Given the description of an element on the screen output the (x, y) to click on. 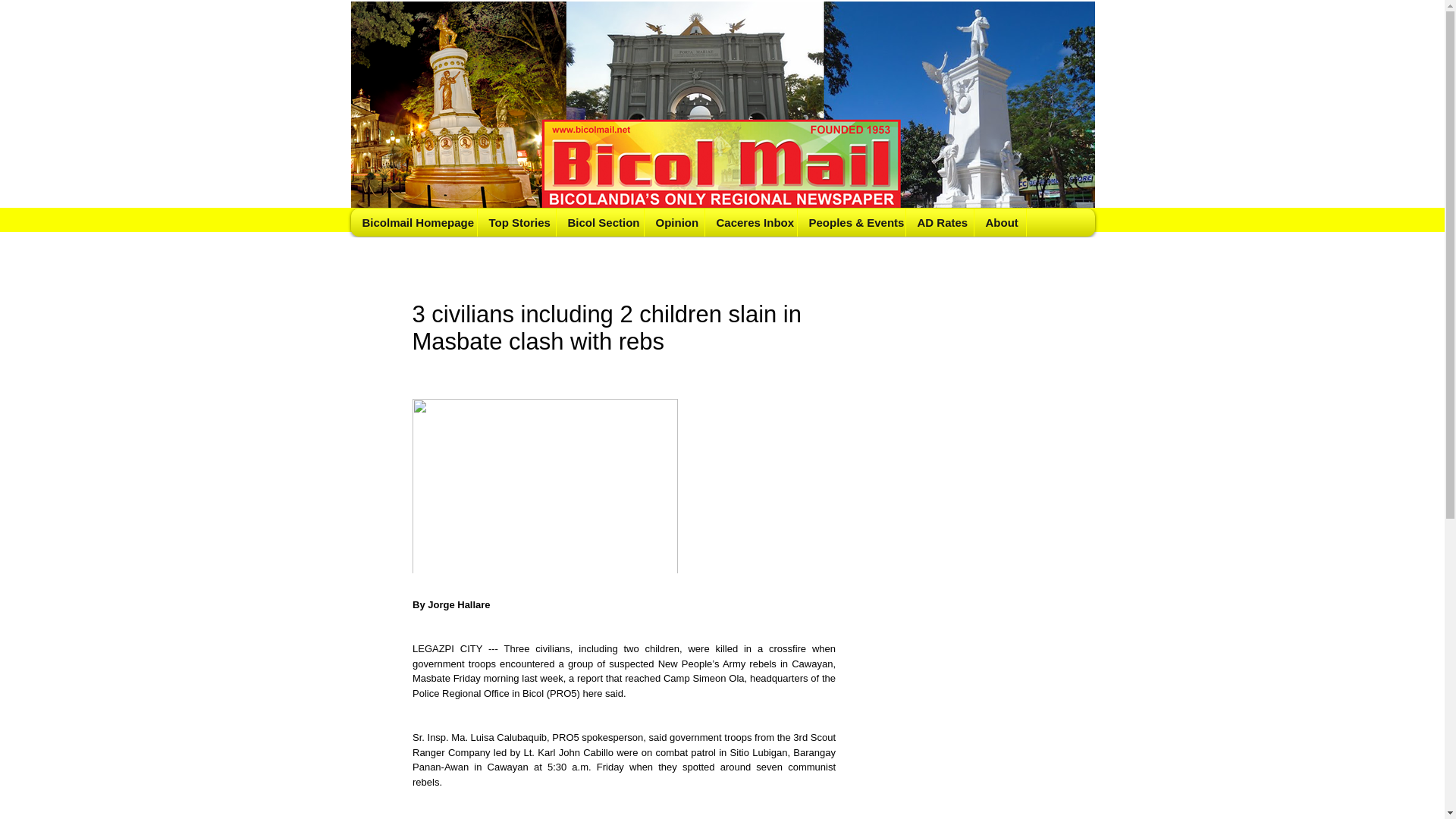
Opinion (673, 222)
Caceres Inbox (749, 222)
Top Stories (515, 222)
About (1000, 222)
AD Rates (939, 222)
Bicol Section (599, 222)
Bicolmail Homepage (414, 222)
